Given the description of an element on the screen output the (x, y) to click on. 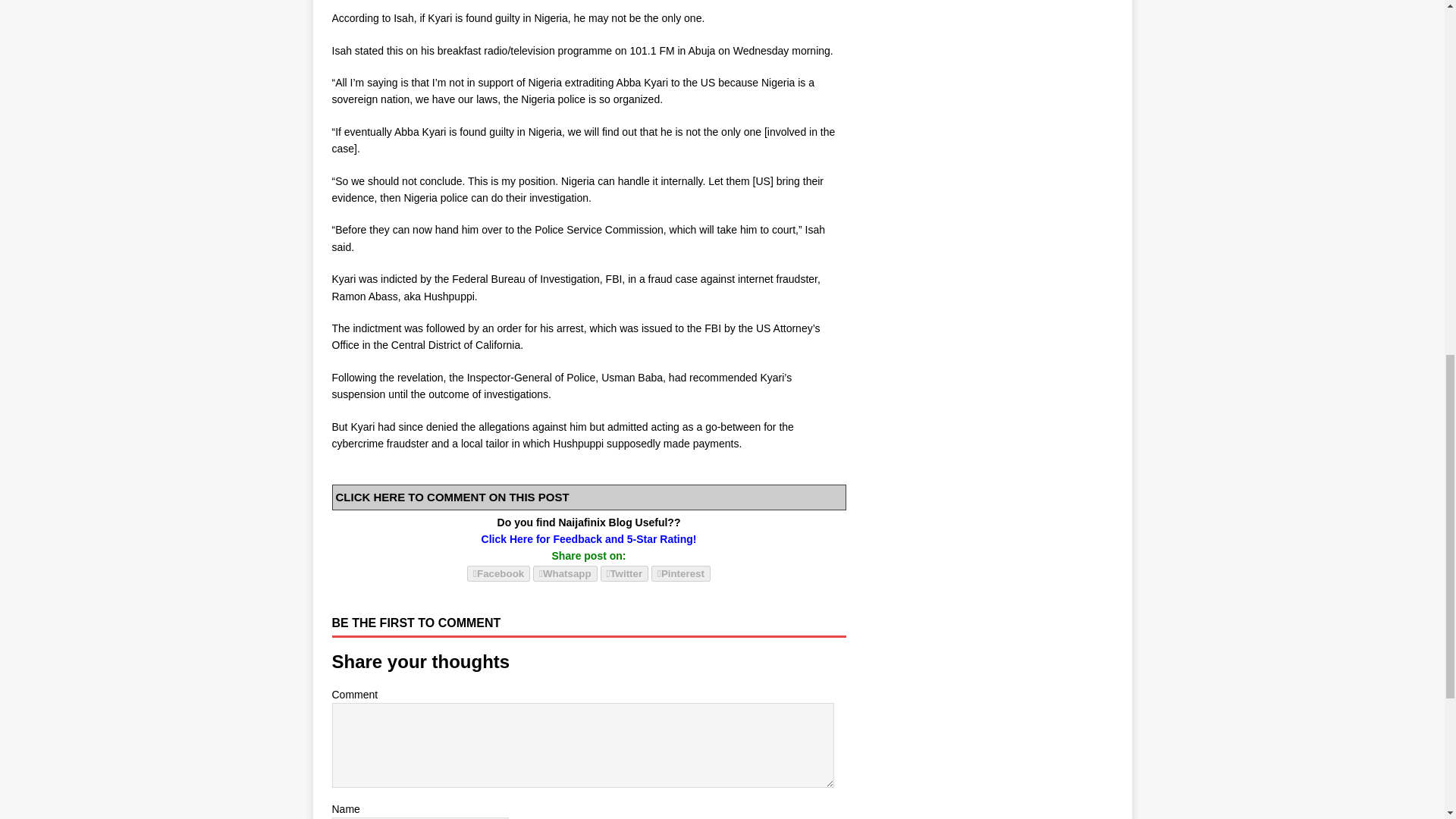
Twitter (624, 573)
Click Here for Feedback and 5-Star Rating! (589, 539)
Pinterest (680, 573)
CLICK HERE TO COMMENT ON THIS POST (451, 496)
Pinterest (680, 573)
Twitter (624, 573)
Whatsapp (564, 573)
Facebook (498, 573)
Whatsapp (564, 573)
Facebook (498, 573)
